Given the description of an element on the screen output the (x, y) to click on. 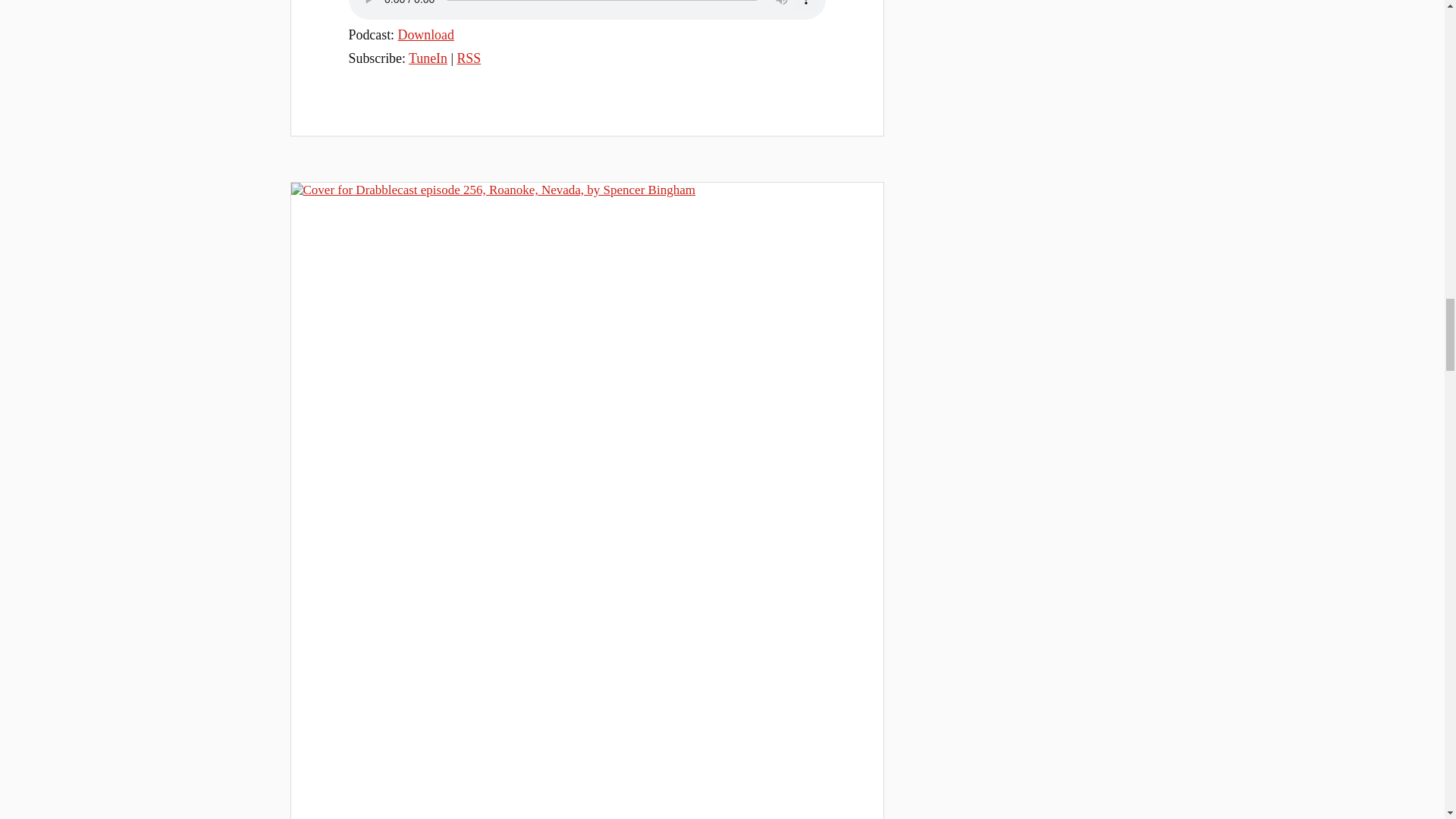
Download (425, 34)
Subscribe on TuneIn (427, 58)
Subscribe via RSS (468, 58)
